Given the description of an element on the screen output the (x, y) to click on. 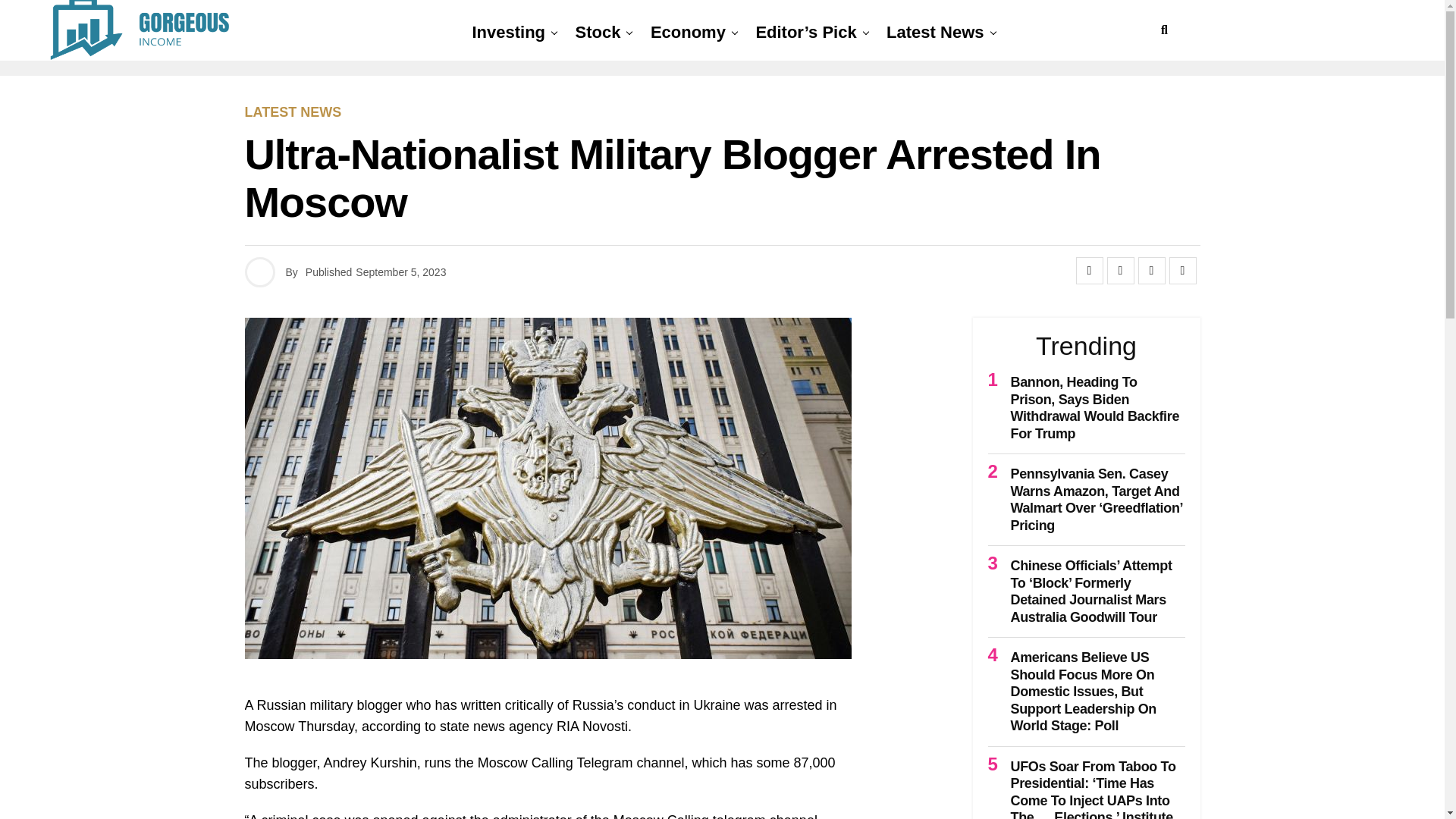
Share on Facebook (1088, 270)
Investing (508, 32)
Latest News (935, 32)
Stock (597, 32)
Economy (688, 32)
Tweet This Post (1120, 270)
LATEST NEWS (292, 112)
